Given the description of an element on the screen output the (x, y) to click on. 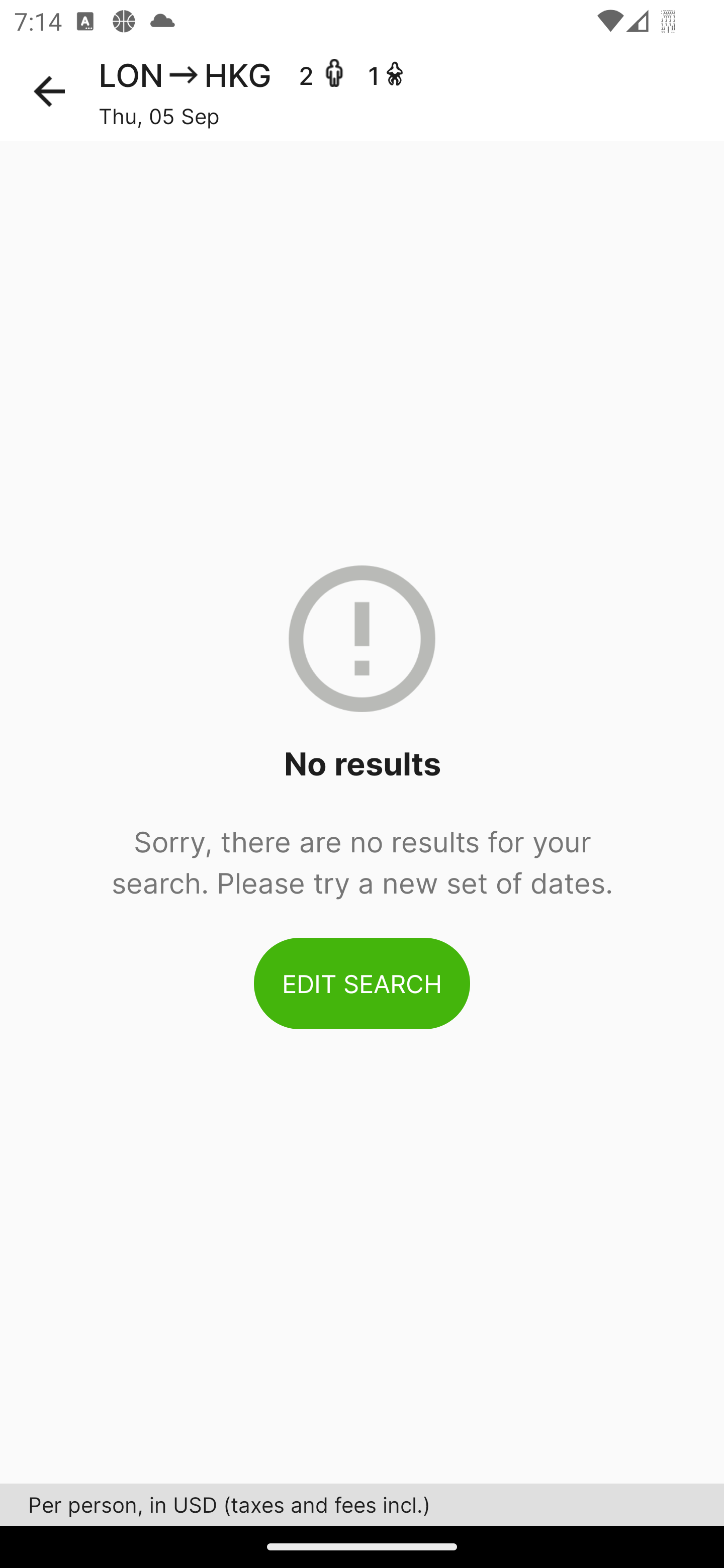
LON HKG   2 -   1 - Thu, 05 Sep (411, 91)
EDIT SEARCH (361, 982)
